Given the description of an element on the screen output the (x, y) to click on. 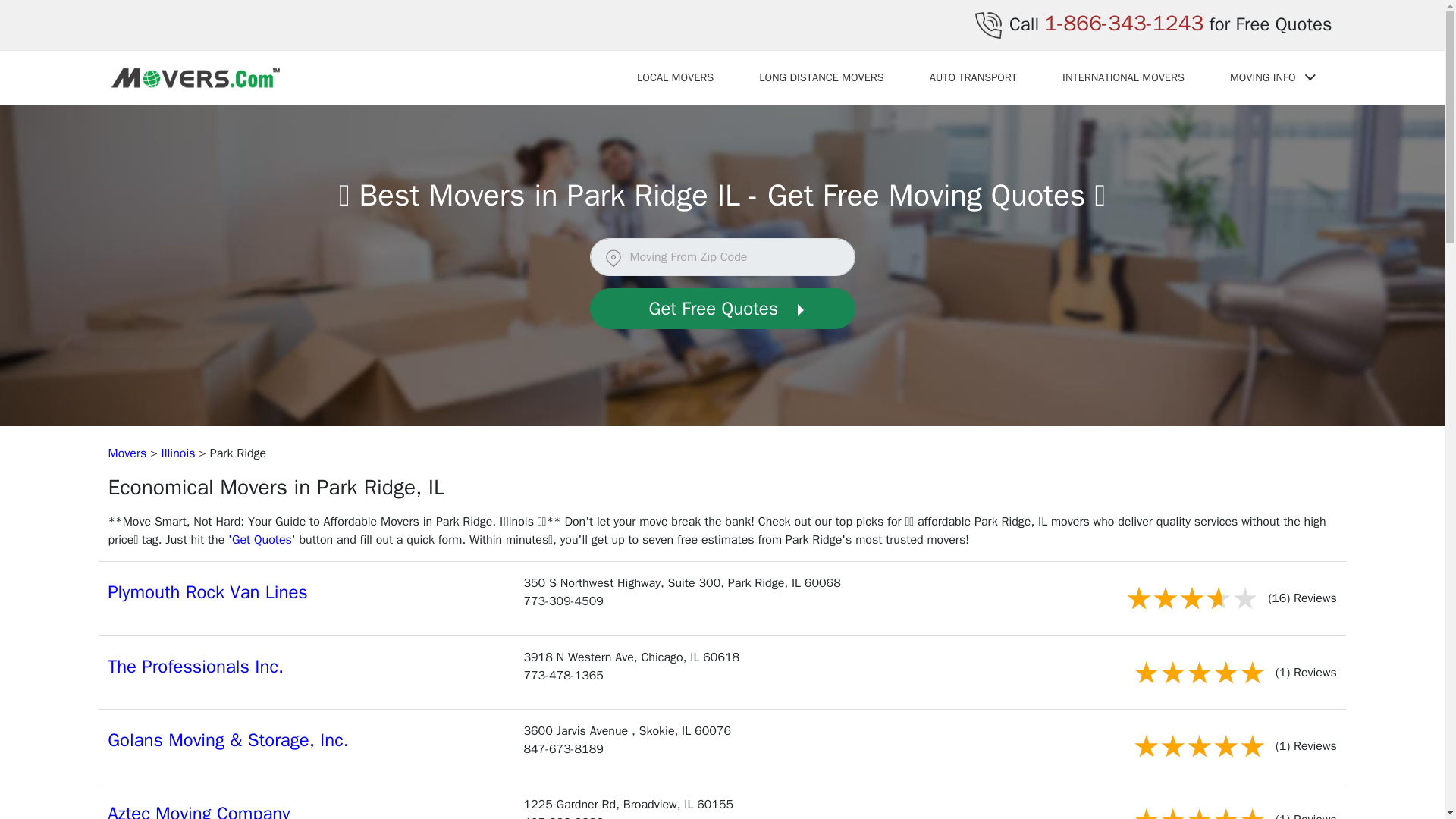
The Professionals Inc. (195, 666)
LONG DISTANCE MOVERS (821, 77)
Movers (127, 453)
5.0 (1198, 809)
Aztec Moving Company (198, 810)
Get Free Quotes (722, 308)
Plymouth Rock Van Lines (207, 591)
LOCAL MOVERS (675, 77)
1-866-343-1243 (1123, 22)
5.0 (1198, 672)
